Given the description of an element on the screen output the (x, y) to click on. 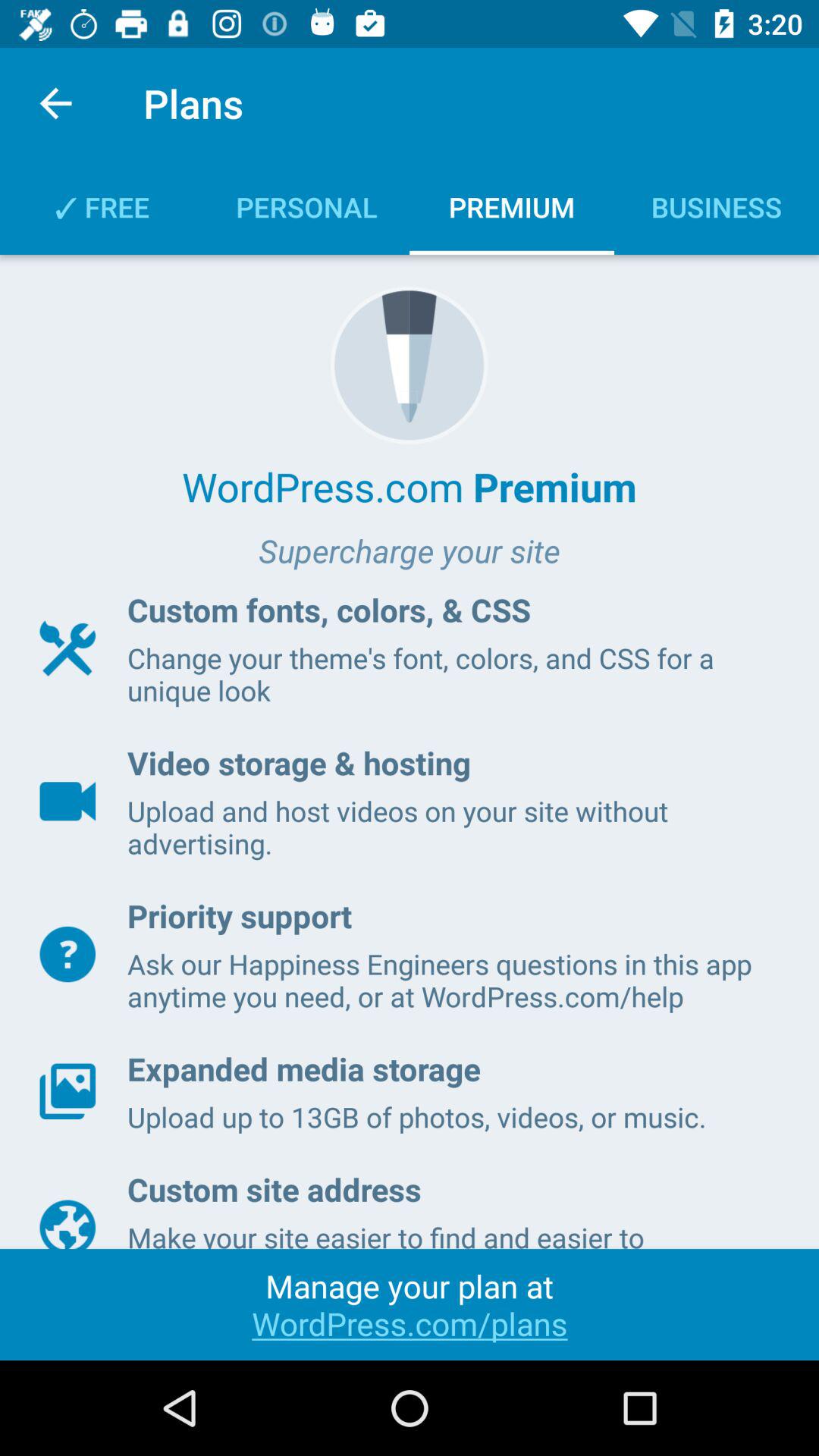
open the item to the left of the plans (55, 103)
